Given the description of an element on the screen output the (x, y) to click on. 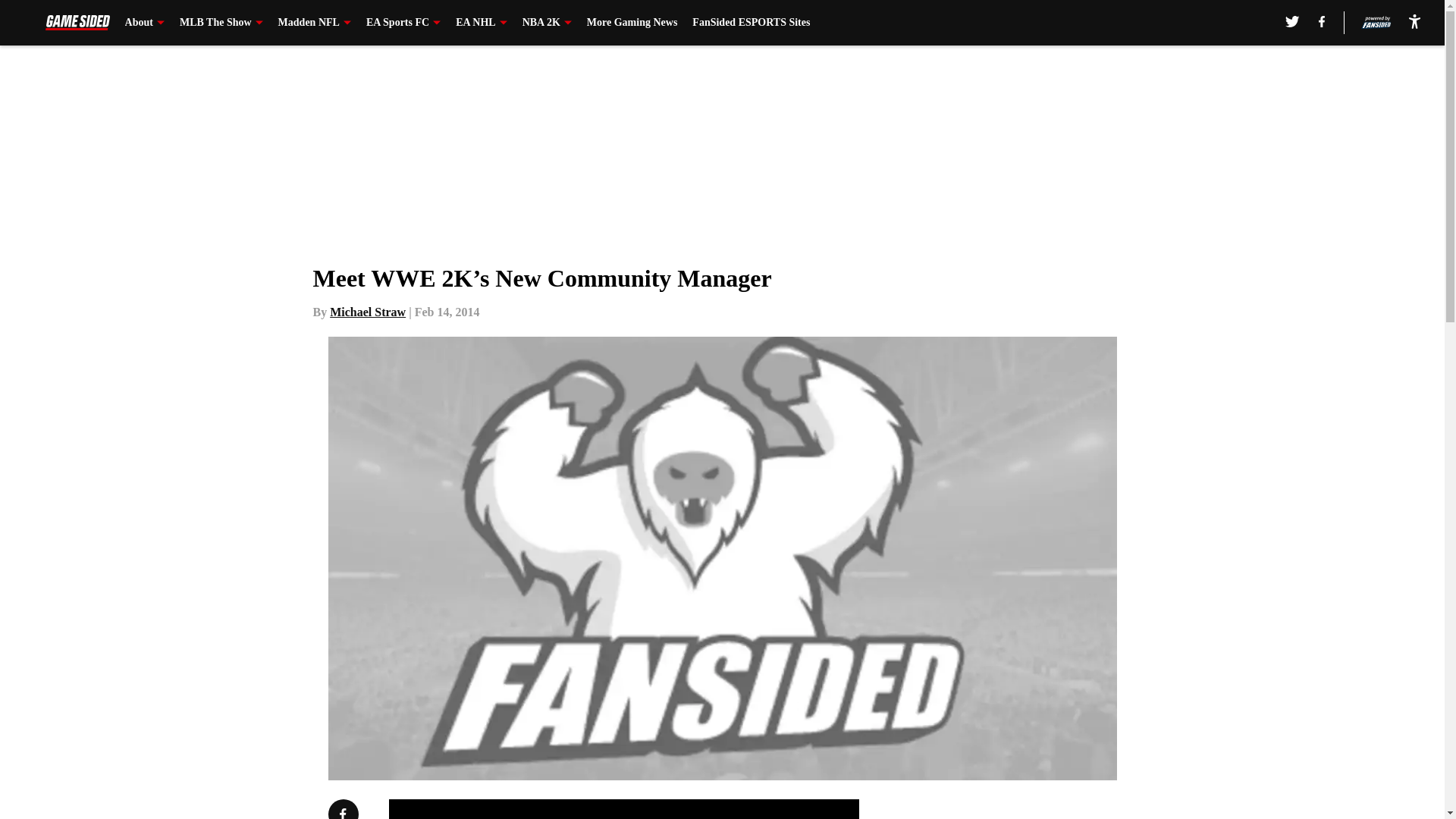
Michael Straw (368, 311)
FanSided ESPORTS Sites (751, 22)
More Gaming News (632, 22)
